Given the description of an element on the screen output the (x, y) to click on. 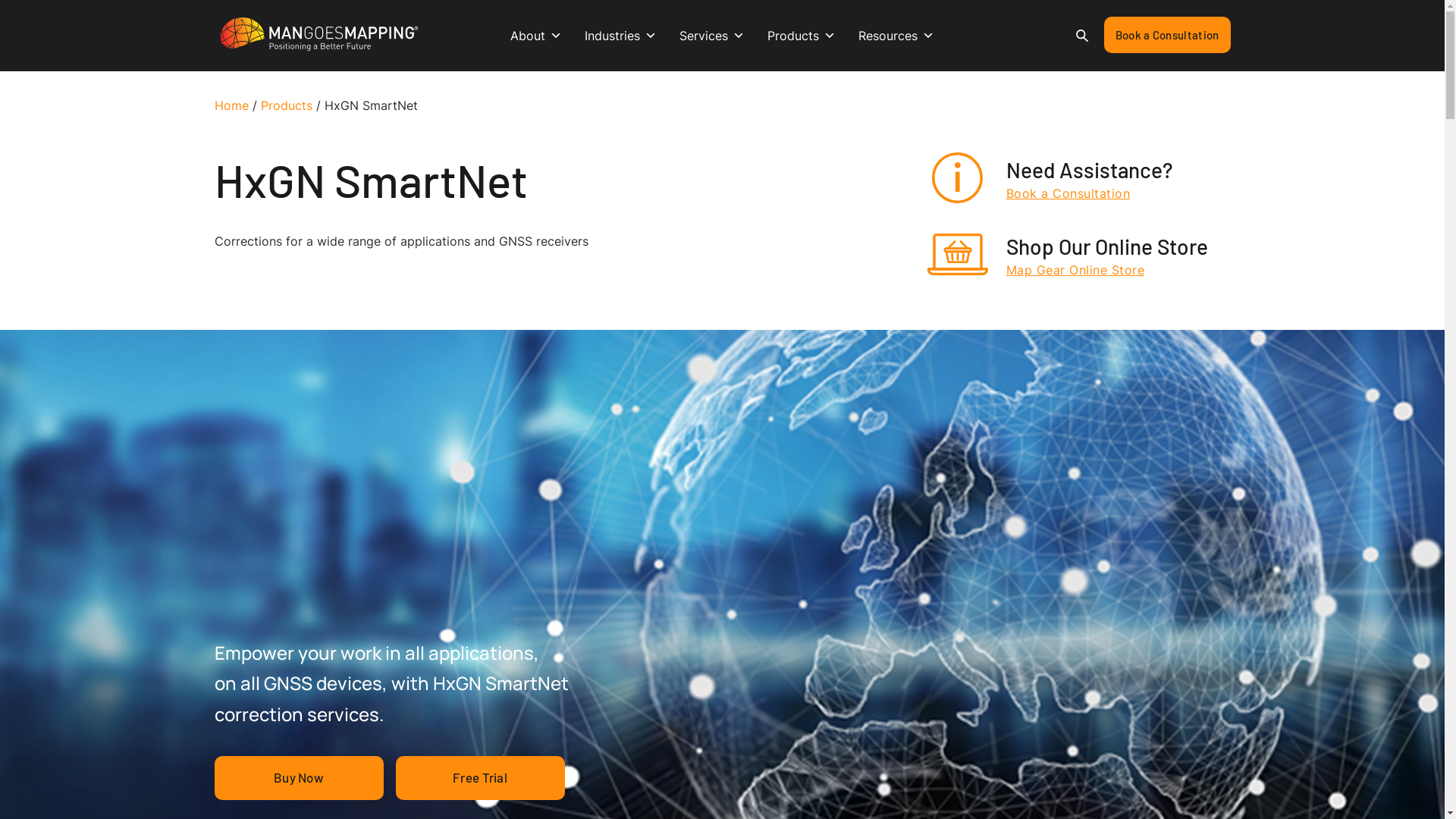
Industries Element type: text (620, 35)
Resources Element type: text (896, 35)
Products Element type: text (286, 104)
About Element type: text (535, 35)
Services Element type: text (712, 35)
Free Trial Element type: text (479, 778)
Home Element type: text (230, 104)
Book a Consultation Element type: text (1167, 34)
Book a Consultation Element type: text (1088, 193)
Products Element type: text (801, 35)
Map Gear Online Store Element type: text (1106, 270)
Buy Now Element type: text (297, 778)
